Given the description of an element on the screen output the (x, y) to click on. 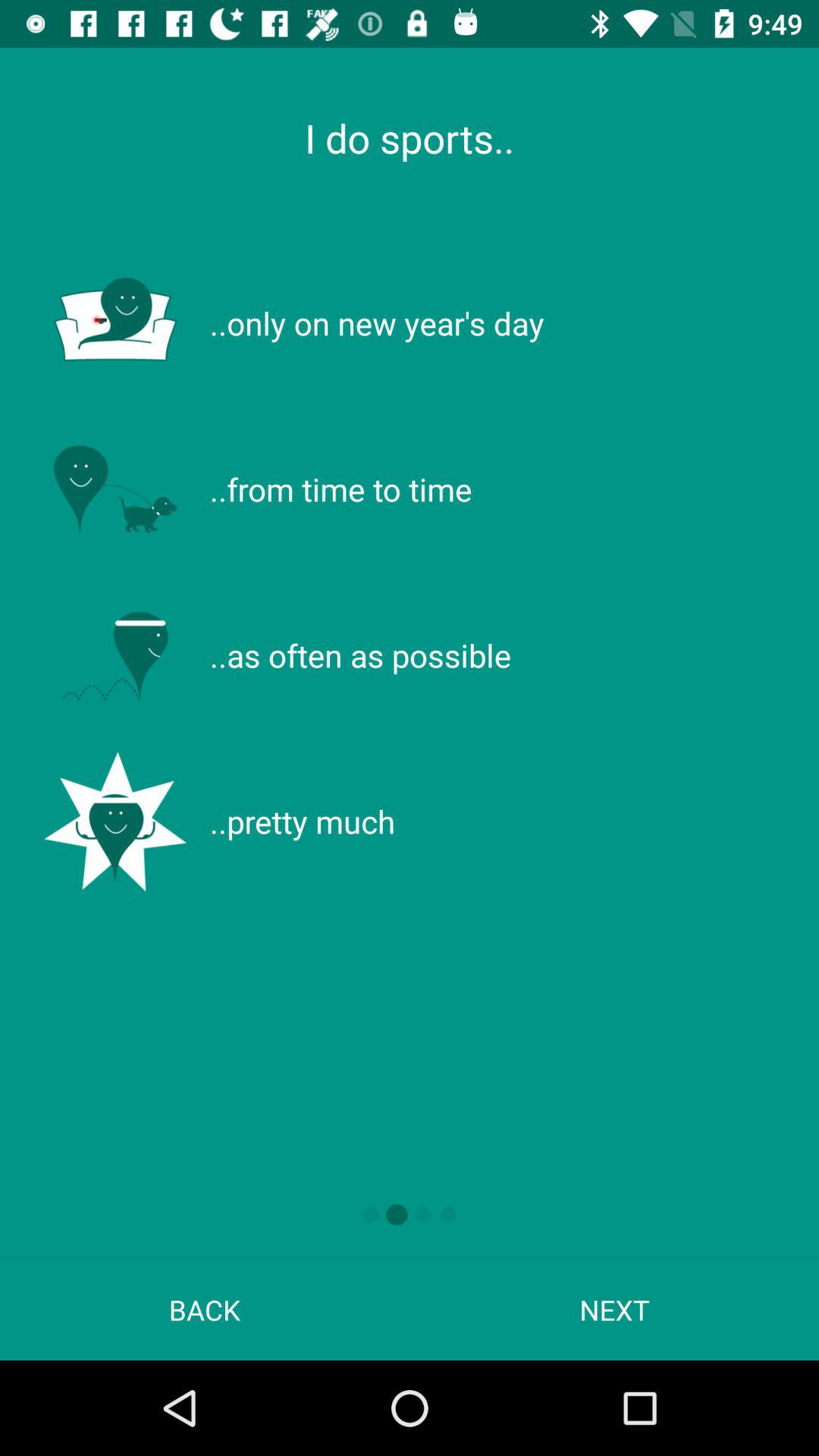
press back (204, 1309)
